Given the description of an element on the screen output the (x, y) to click on. 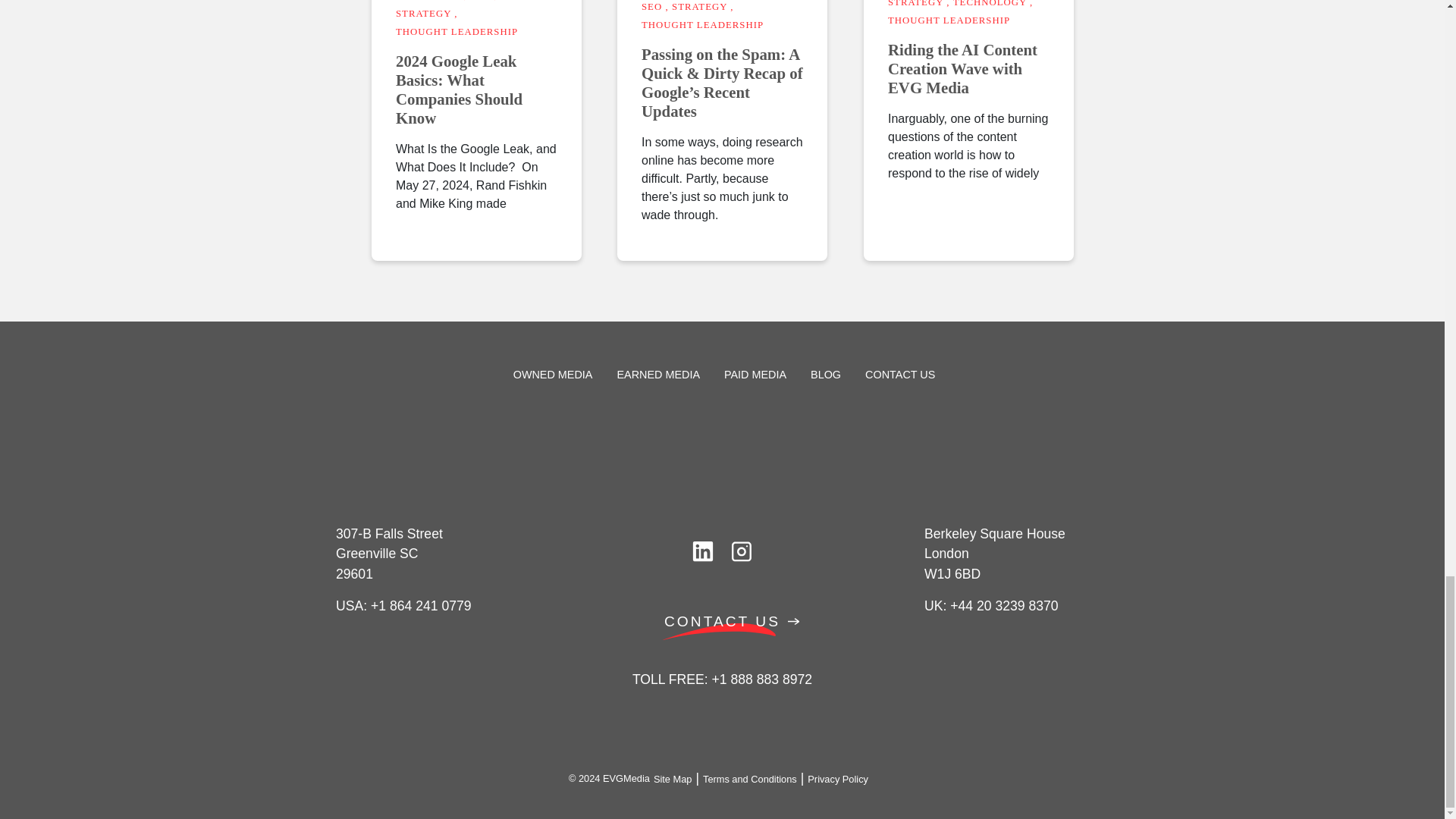
THOUGHT LEADERSHIP (457, 31)
MARKETING (428, 0)
STRATEGY (698, 6)
STRATEGY (915, 3)
THOUGHT LEADERSHIP (702, 24)
2024 Google Leak Basics: What Companies Should Know (476, 89)
SEO (652, 6)
STRATEGY (423, 13)
